Given the description of an element on the screen output the (x, y) to click on. 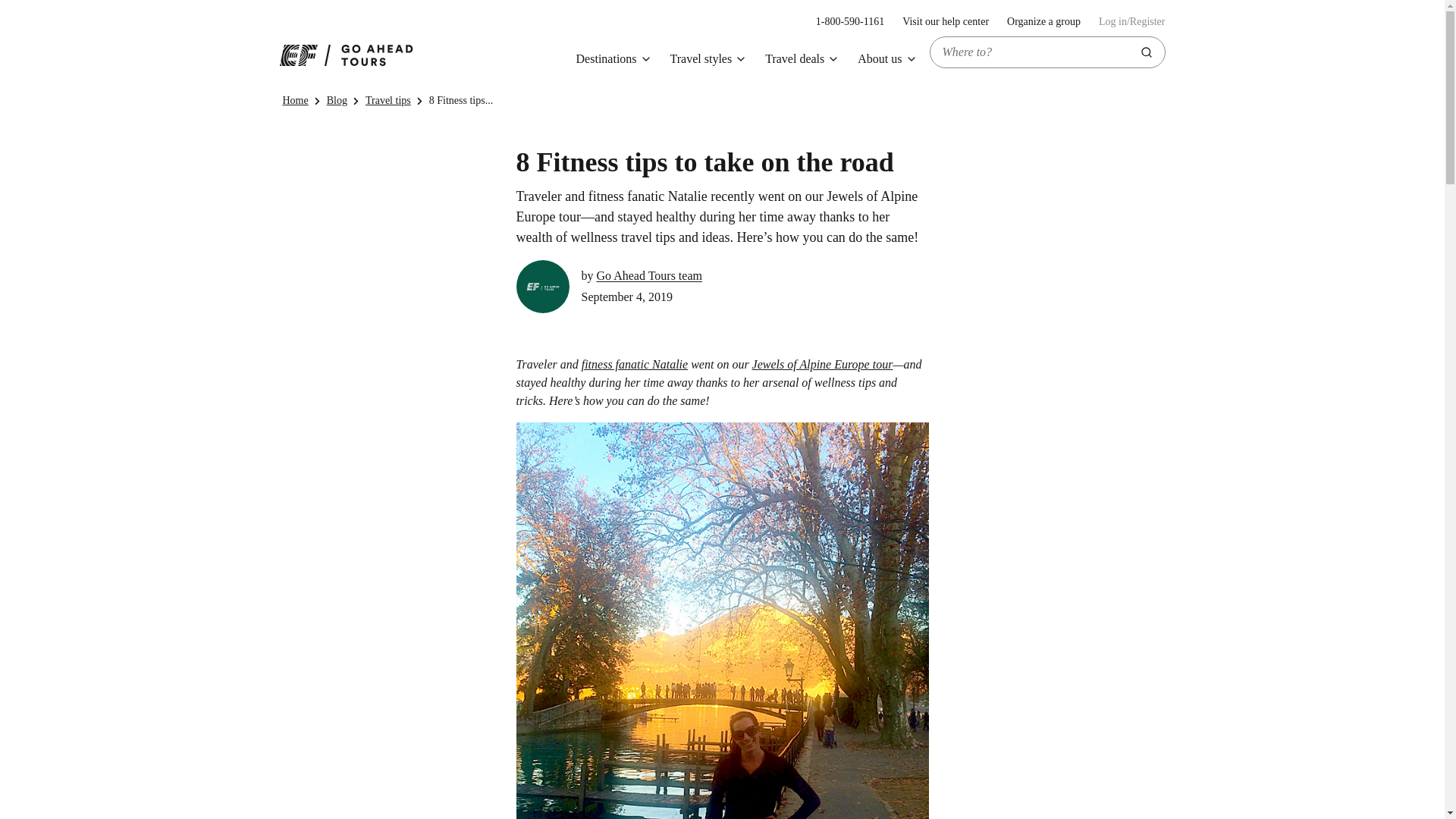
About us (887, 59)
Travel deals (802, 59)
Organize a group (1043, 21)
Visit our help center (945, 21)
Travel styles (708, 59)
Blog (336, 100)
Jewels of Alpine Europe tour (822, 364)
Travel tips (387, 100)
Destinations (614, 59)
Go Ahead Tours team (648, 275)
